Given the description of an element on the screen output the (x, y) to click on. 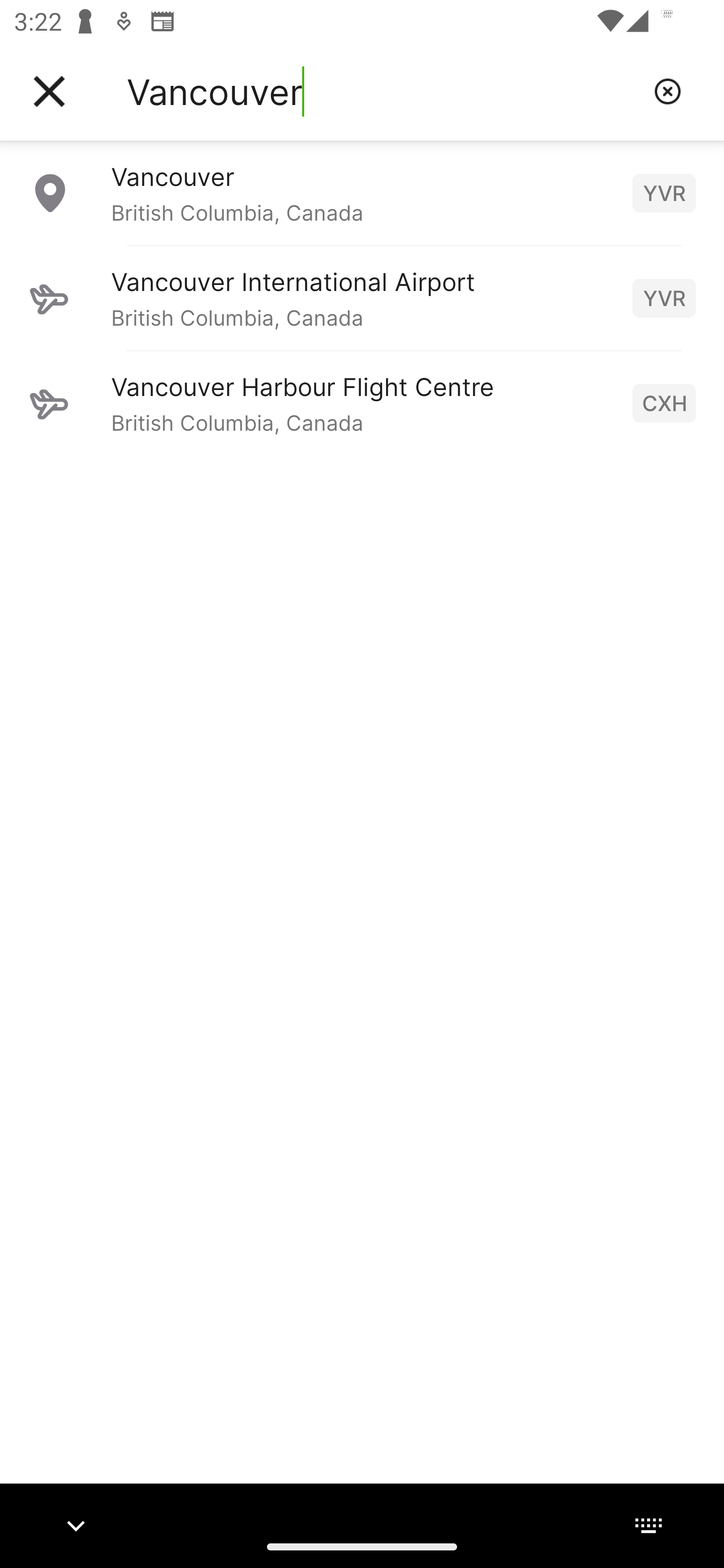
Vancouver (382, 91)
Vancouver British Columbia, Canada YVR (362, 192)
